Given the description of an element on the screen output the (x, y) to click on. 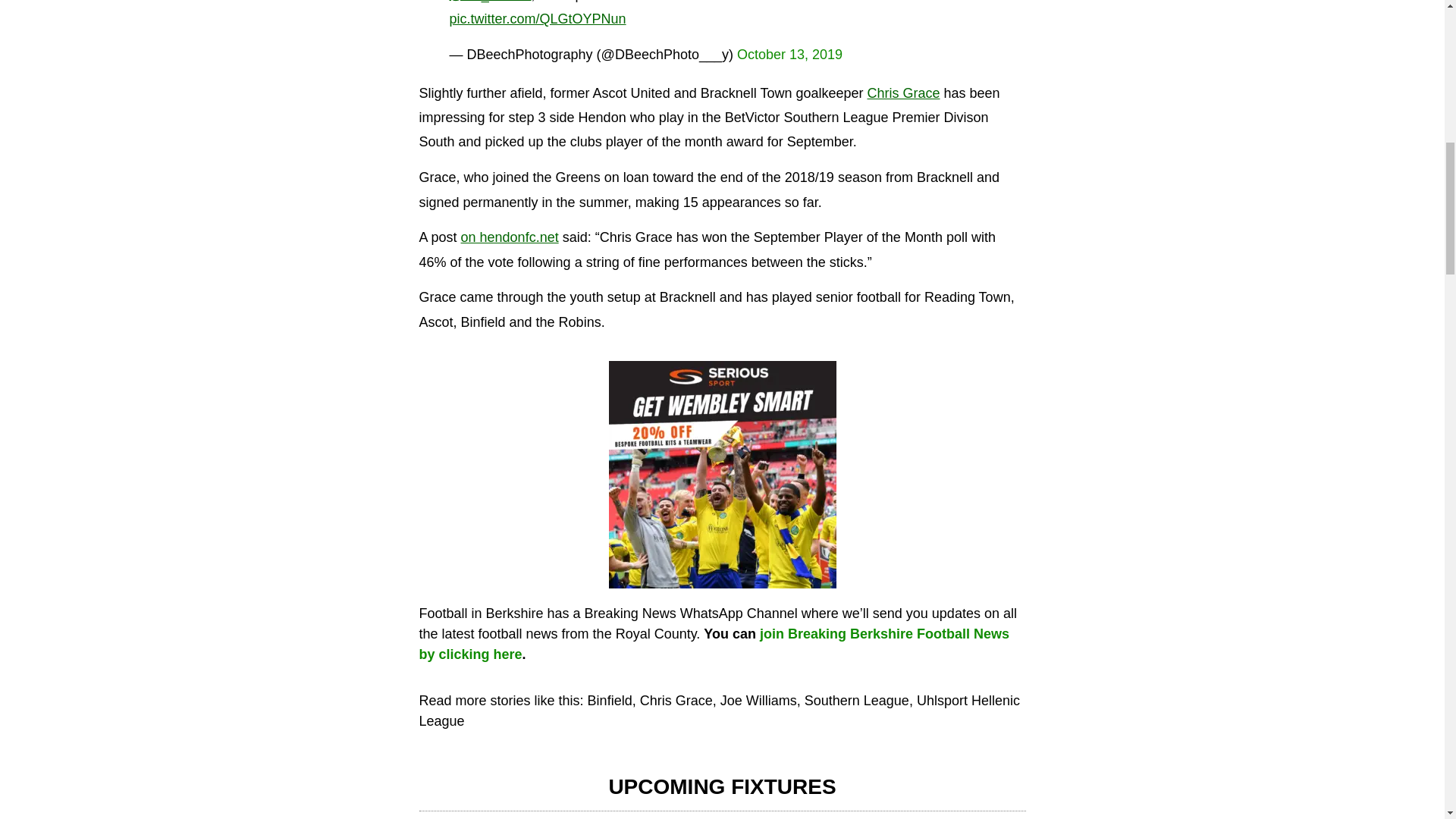
Binfield (609, 700)
Chris Grace (902, 92)
on hendonfc.net (510, 237)
October 13, 2019 (789, 54)
join Breaking Berkshire Football News by clicking here (714, 643)
Chris Grace (676, 700)
